Given the description of an element on the screen output the (x, y) to click on. 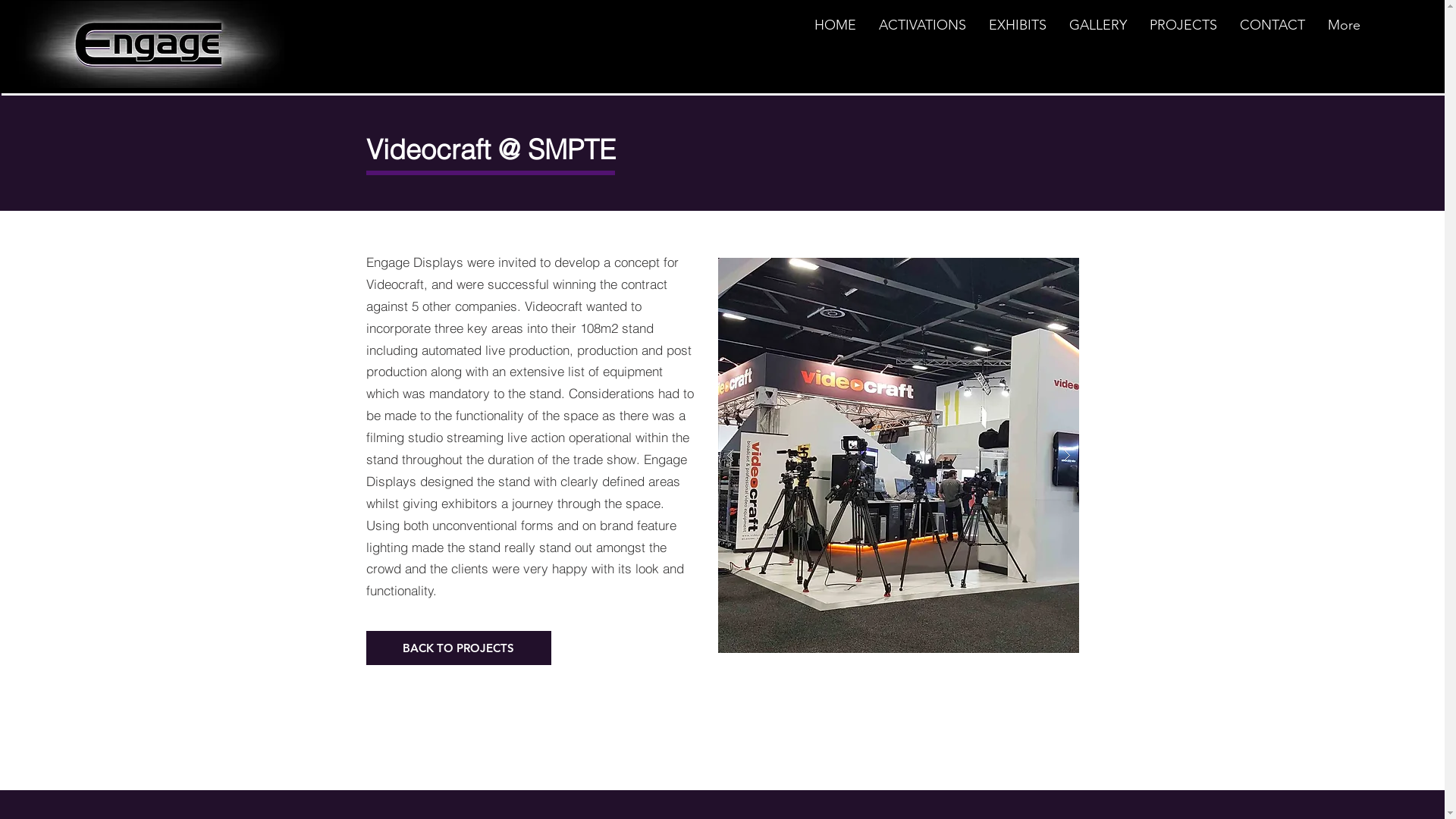
CONTACT Element type: text (1272, 29)
PROJECTS Element type: text (1182, 29)
ACTIVATIONS Element type: text (922, 29)
HOME Element type: text (834, 29)
GALLERY Element type: text (1097, 29)
EXHIBITS Element type: text (1016, 29)
BACK TO PROJECTS Element type: text (457, 647)
